Given the description of an element on the screen output the (x, y) to click on. 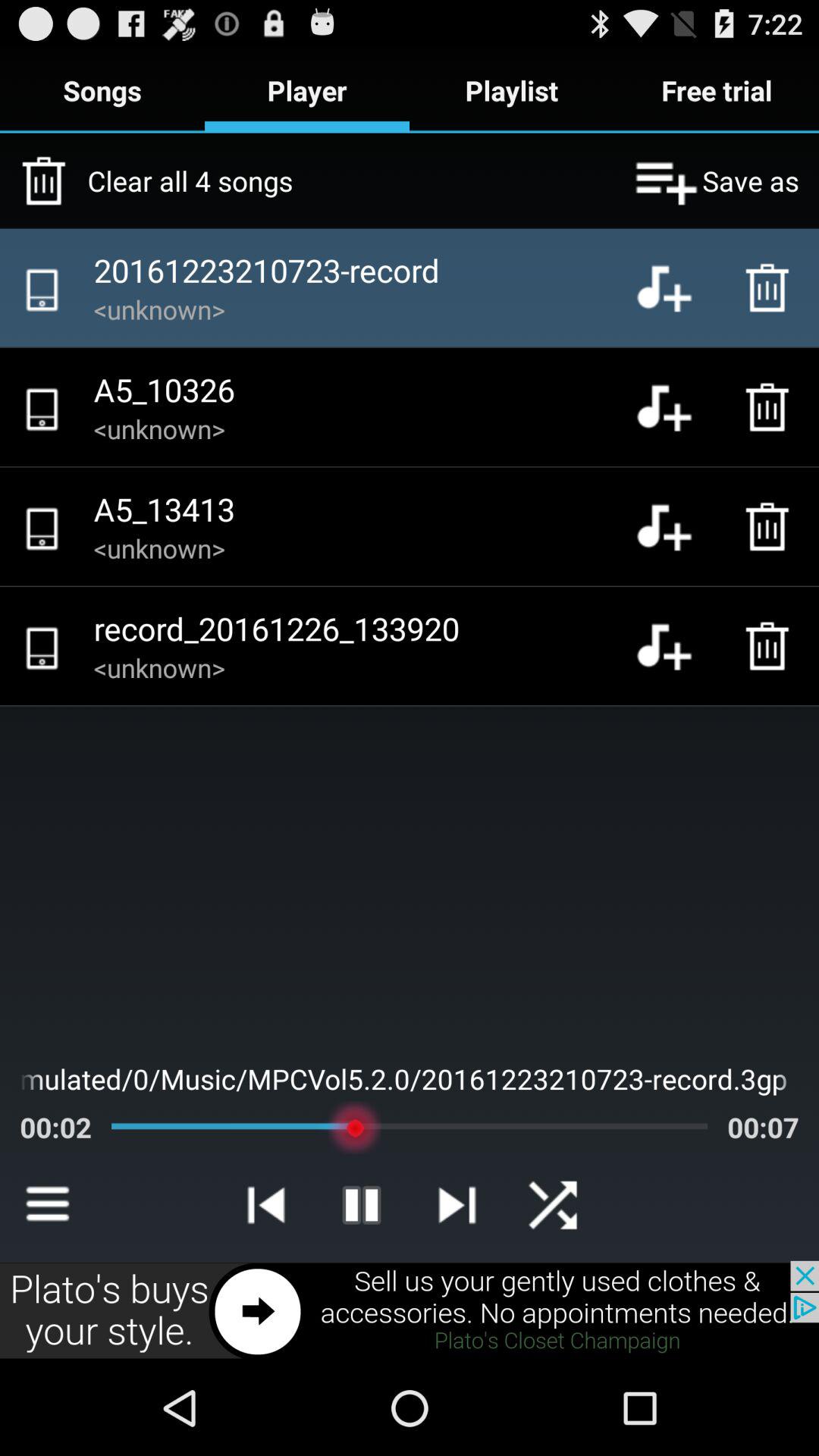
delete icon (771, 287)
